Given the description of an element on the screen output the (x, y) to click on. 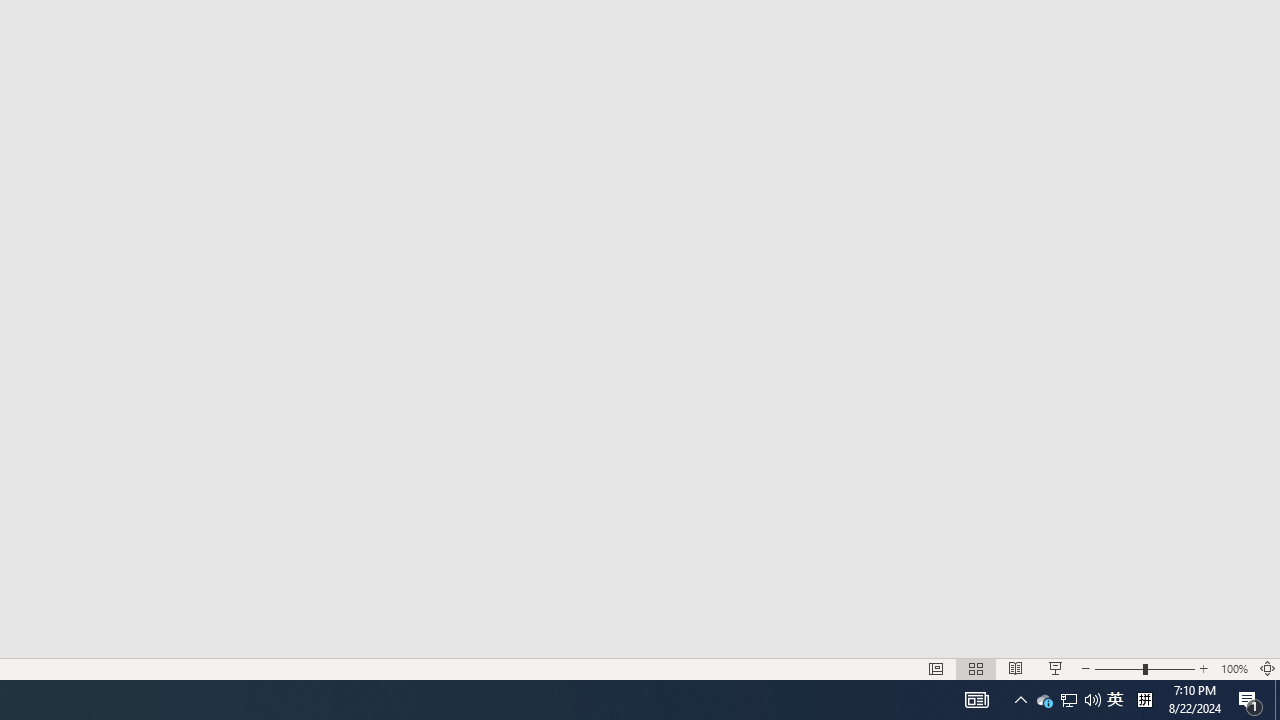
Zoom 100% (1234, 668)
